Given the description of an element on the screen output the (x, y) to click on. 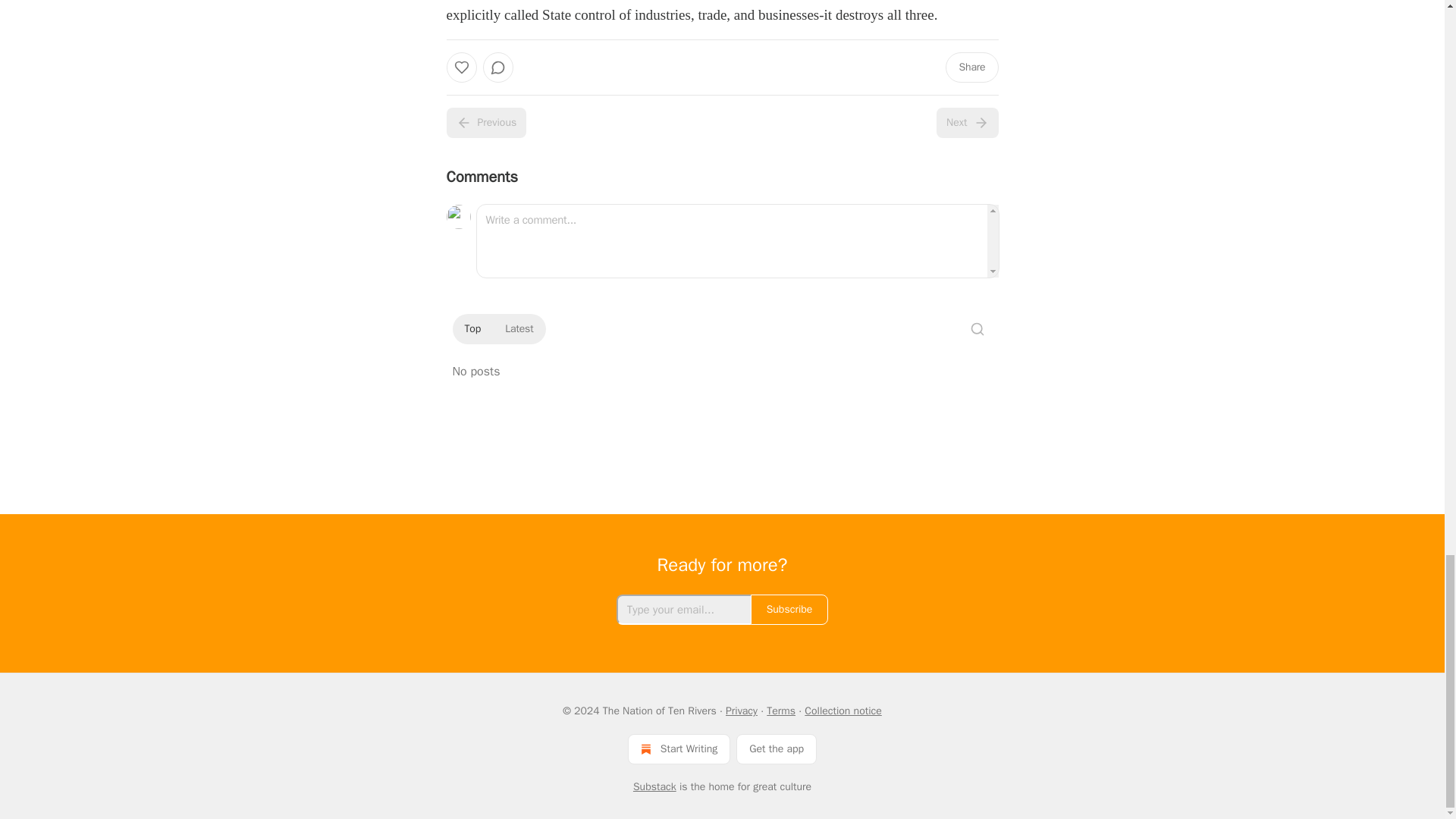
Previous (485, 122)
Latest (518, 328)
Share (970, 67)
Next (966, 122)
Top (471, 328)
